Given the description of an element on the screen output the (x, y) to click on. 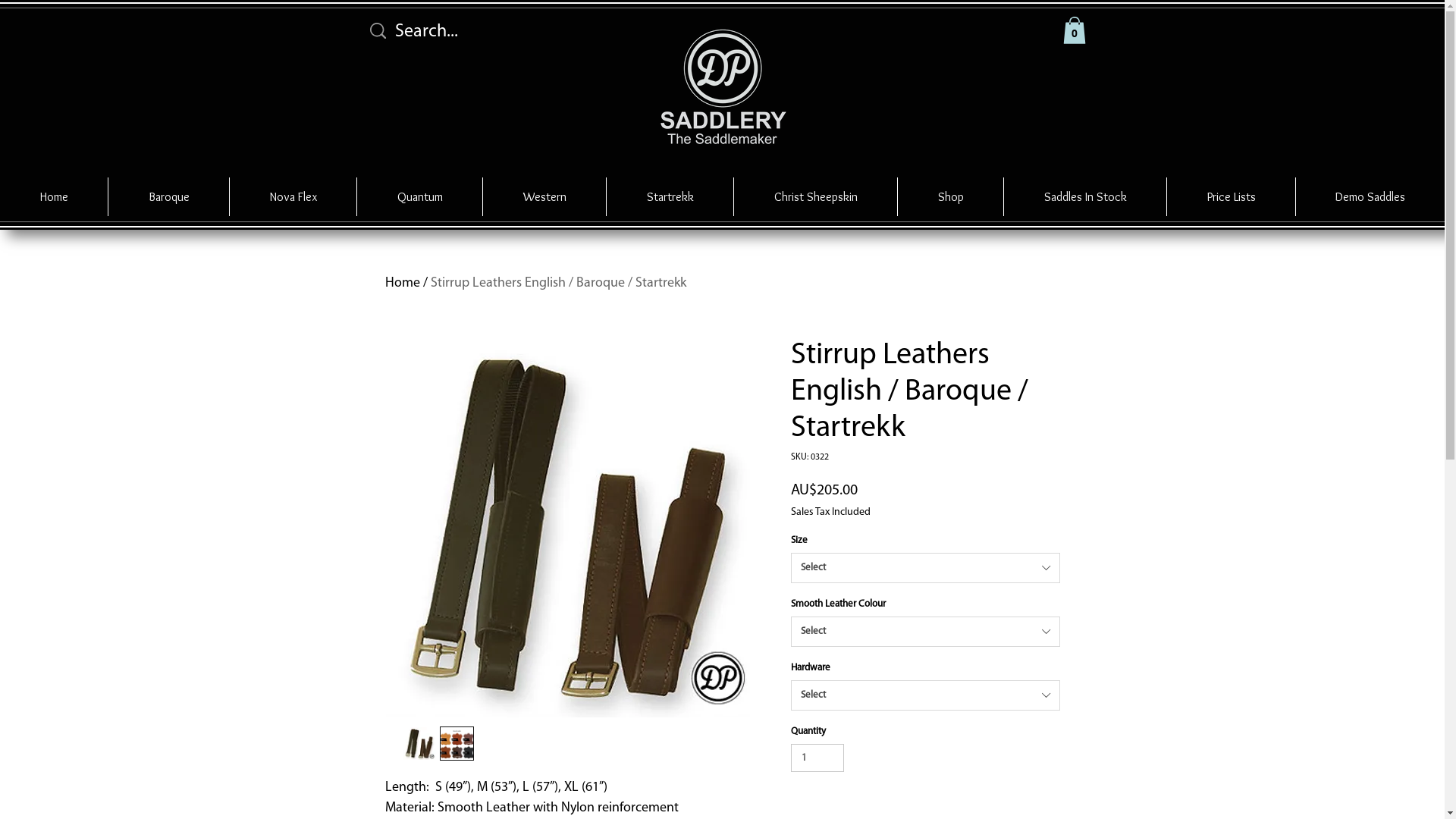
Startrekk Element type: text (669, 196)
Home Element type: text (53, 196)
Home Element type: text (402, 283)
Christ Sheepskin Element type: text (815, 196)
Shop Element type: text (950, 196)
Select Element type: text (924, 567)
Saddles In Stock Element type: text (1085, 196)
0 Element type: text (1074, 29)
Stirrup Leathers English / Baroque / Startrekk Element type: text (558, 283)
Demo Saddles Element type: text (1369, 196)
Nova Flex Element type: text (292, 196)
Price Lists Element type: text (1231, 196)
Select Element type: text (924, 631)
Western Element type: text (544, 196)
Baroque Element type: text (168, 196)
Select Element type: text (924, 695)
Quantum Element type: text (419, 196)
